Given the description of an element on the screen output the (x, y) to click on. 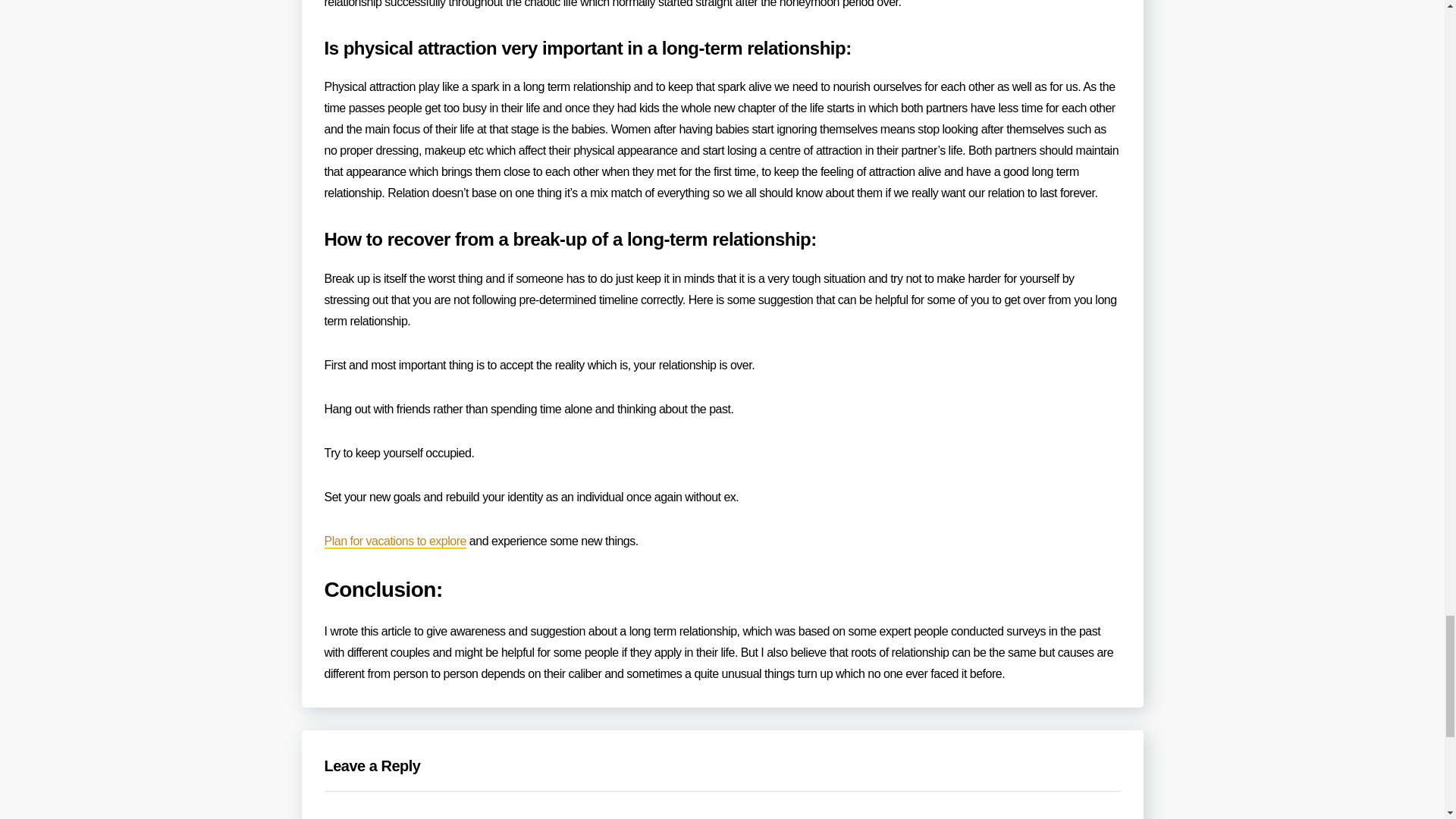
Plan for vacations to explore (394, 541)
